Given the description of an element on the screen output the (x, y) to click on. 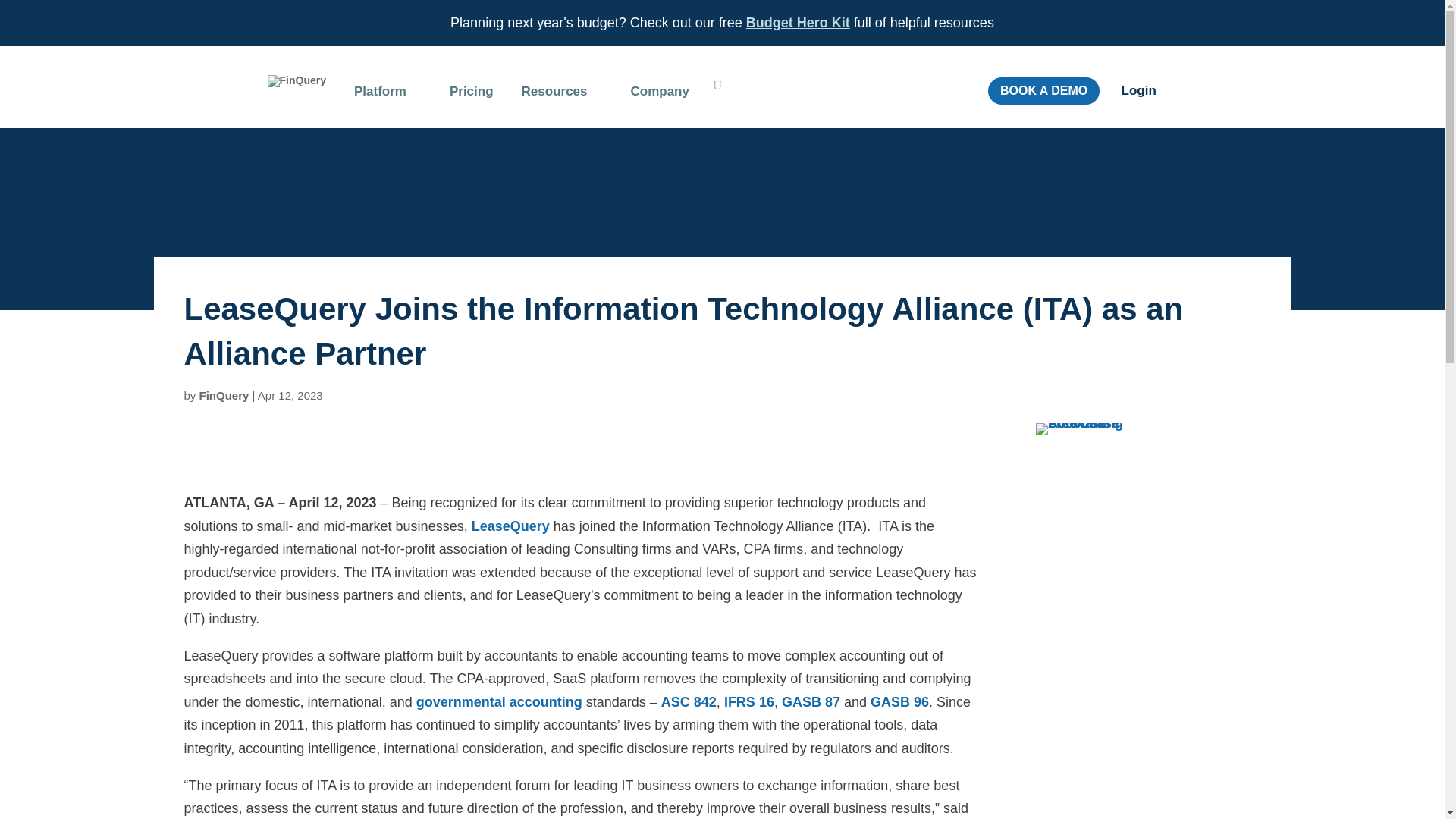
Pricing (471, 94)
Budget Hero Kit (797, 22)
Resources (561, 94)
Company (667, 94)
Platform (387, 94)
Posts by FinQuery (223, 395)
Login (1138, 90)
BOOK A DEMO (1043, 90)
